Given the description of an element on the screen output the (x, y) to click on. 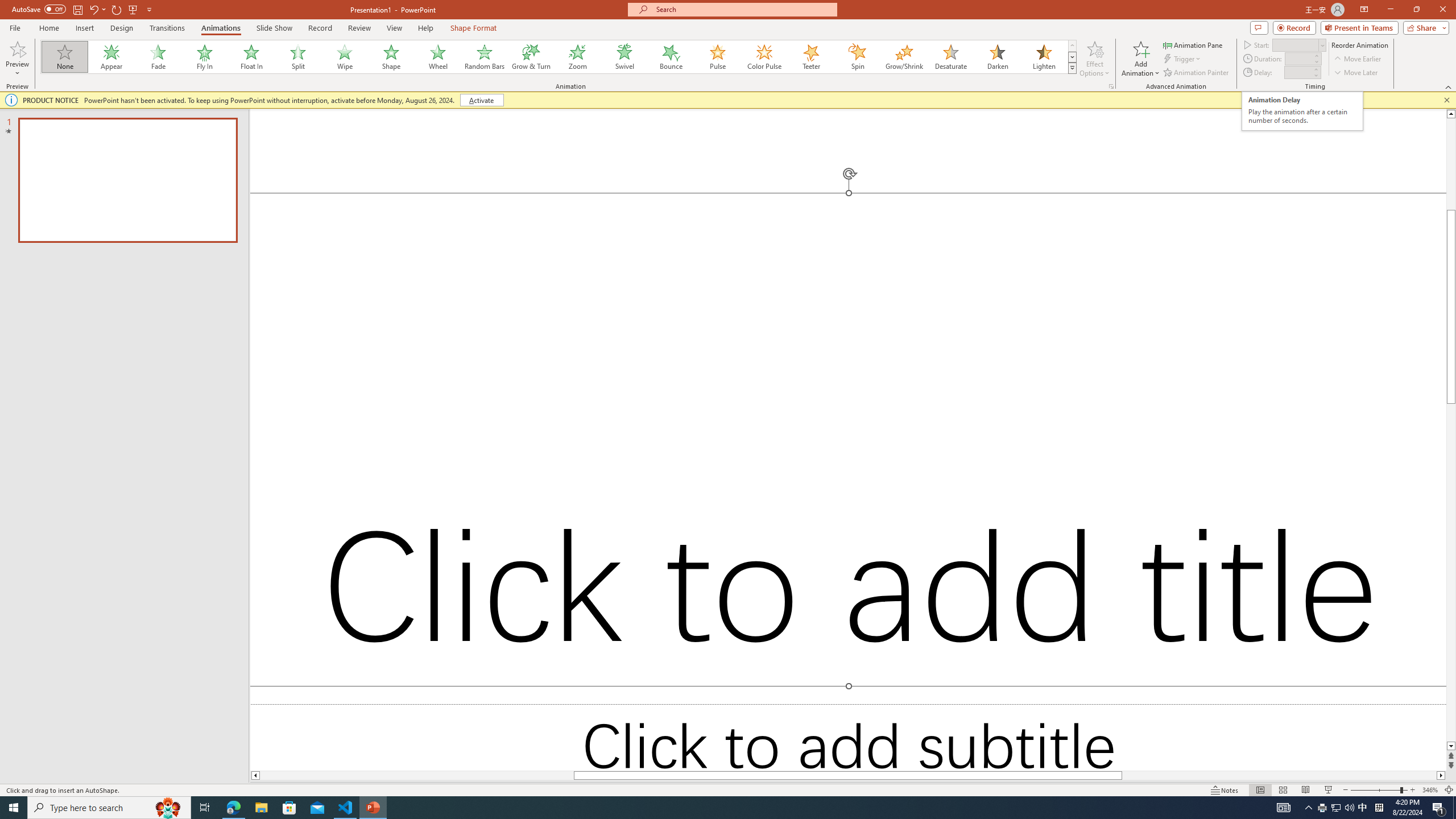
Desaturate (950, 56)
Effect Options (1094, 58)
